Given the description of an element on the screen output the (x, y) to click on. 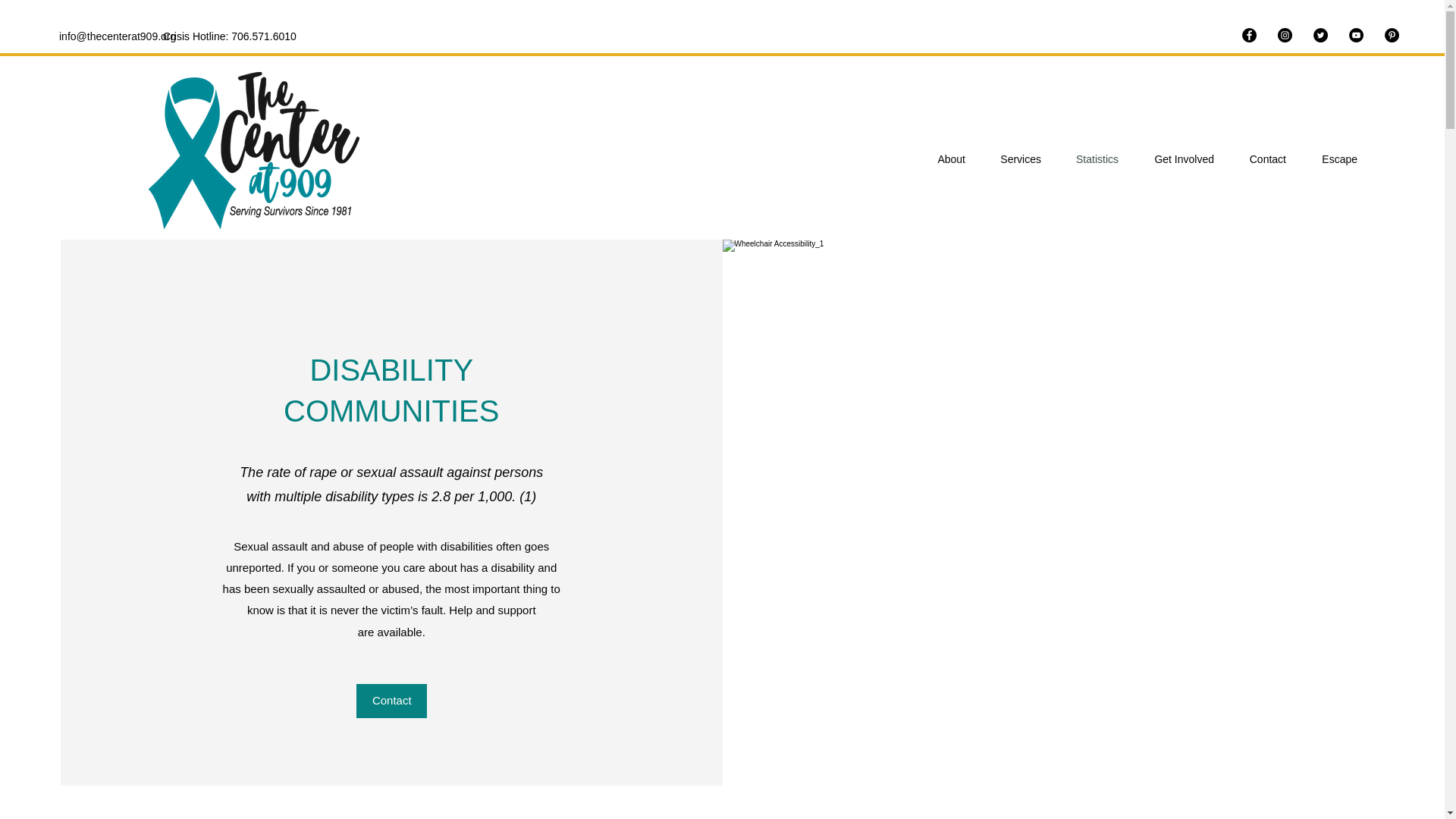
About (941, 159)
Statistics (1086, 159)
Contact (1257, 159)
Services (1010, 159)
Get Involved (1173, 159)
706.571.6010 (264, 36)
